Given the description of an element on the screen output the (x, y) to click on. 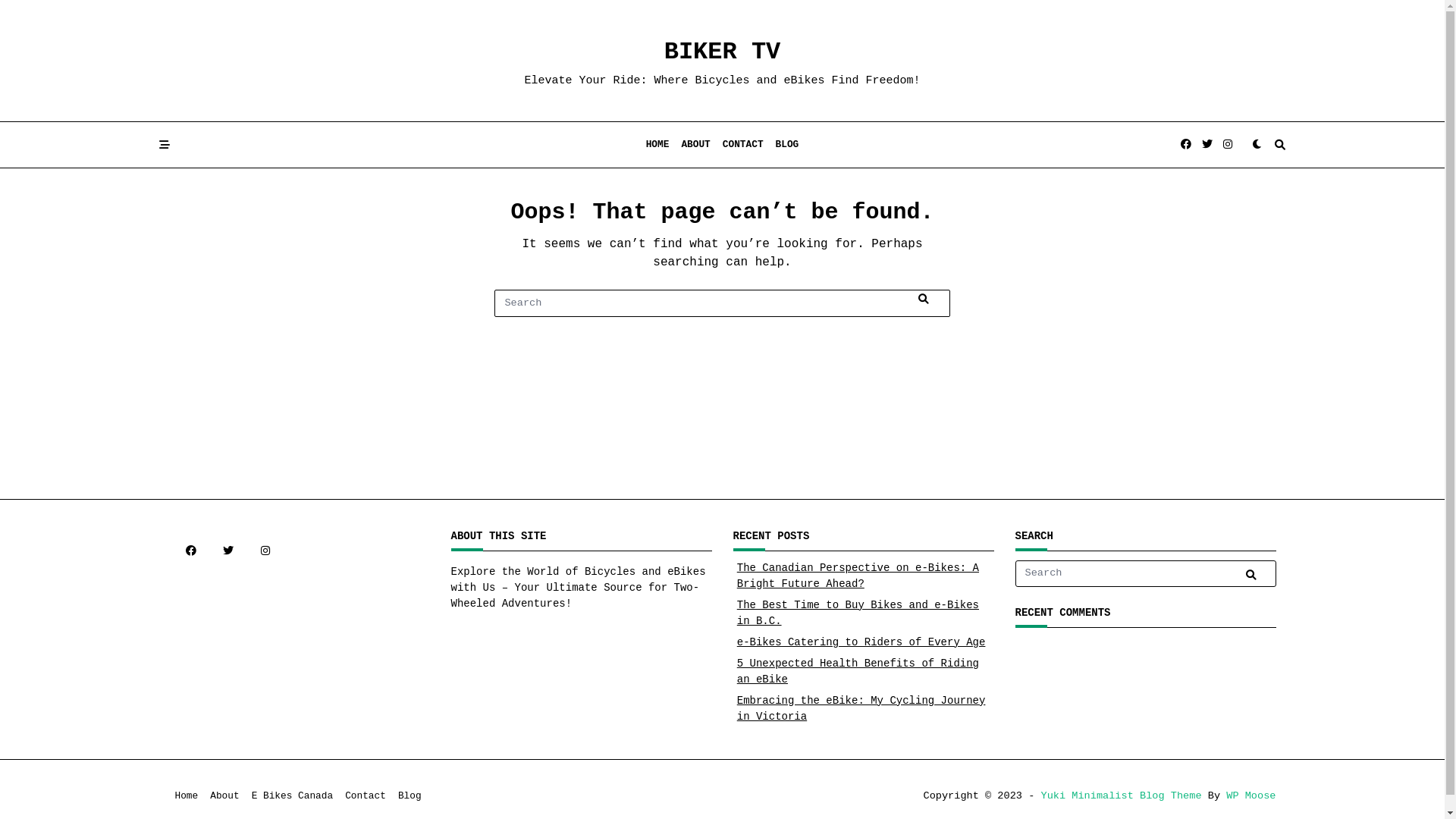
The Best Time to Buy Bikes and e-Bikes in B.C. Element type: text (858, 613)
E Bikes Canada Element type: text (292, 796)
Yuki Minimalist Blog Theme Element type: text (1120, 795)
The Canadian Perspective on e-Bikes: A Bright Future Ahead? Element type: text (858, 575)
BIKER TV Element type: text (722, 51)
5 Unexpected Health Benefits of Riding an eBike Element type: text (858, 671)
HOME Element type: text (657, 144)
Embracing the eBike: My Cycling Journey in Victoria Element type: text (861, 708)
WP Moose Element type: text (1250, 795)
ABOUT Element type: text (694, 144)
Home Element type: text (185, 796)
About Element type: text (223, 796)
BLOG Element type: text (787, 144)
Blog Element type: text (409, 796)
e-Bikes Catering to Riders of Every Age Element type: text (861, 642)
CONTACT Element type: text (742, 144)
Contact Element type: text (365, 796)
